Given the description of an element on the screen output the (x, y) to click on. 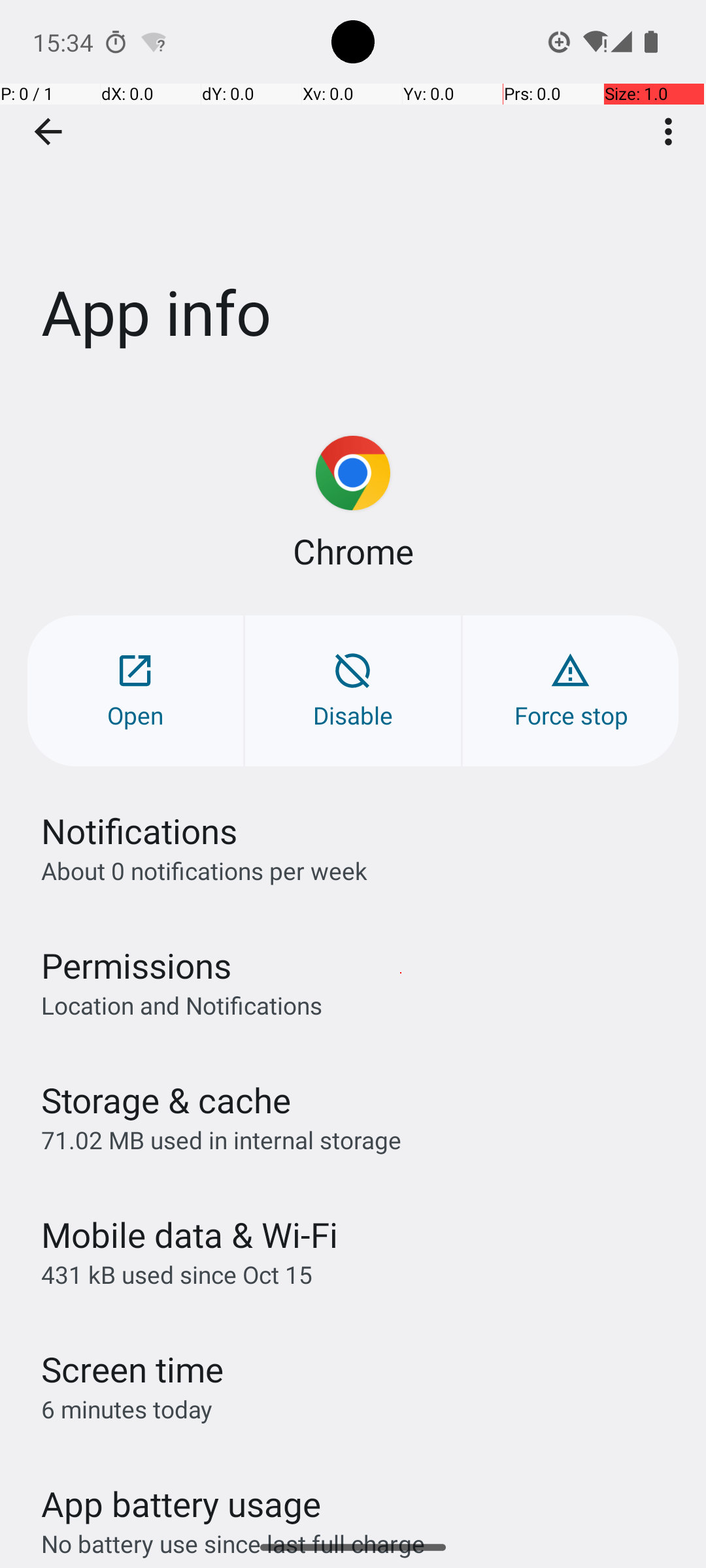
Location and Notifications Element type: android.widget.TextView (181, 1004)
71.02 MB used in internal storage Element type: android.widget.TextView (221, 1139)
431 kB used since Oct 15 Element type: android.widget.TextView (176, 1273)
6 minutes today Element type: android.widget.TextView (127, 1408)
